Given the description of an element on the screen output the (x, y) to click on. 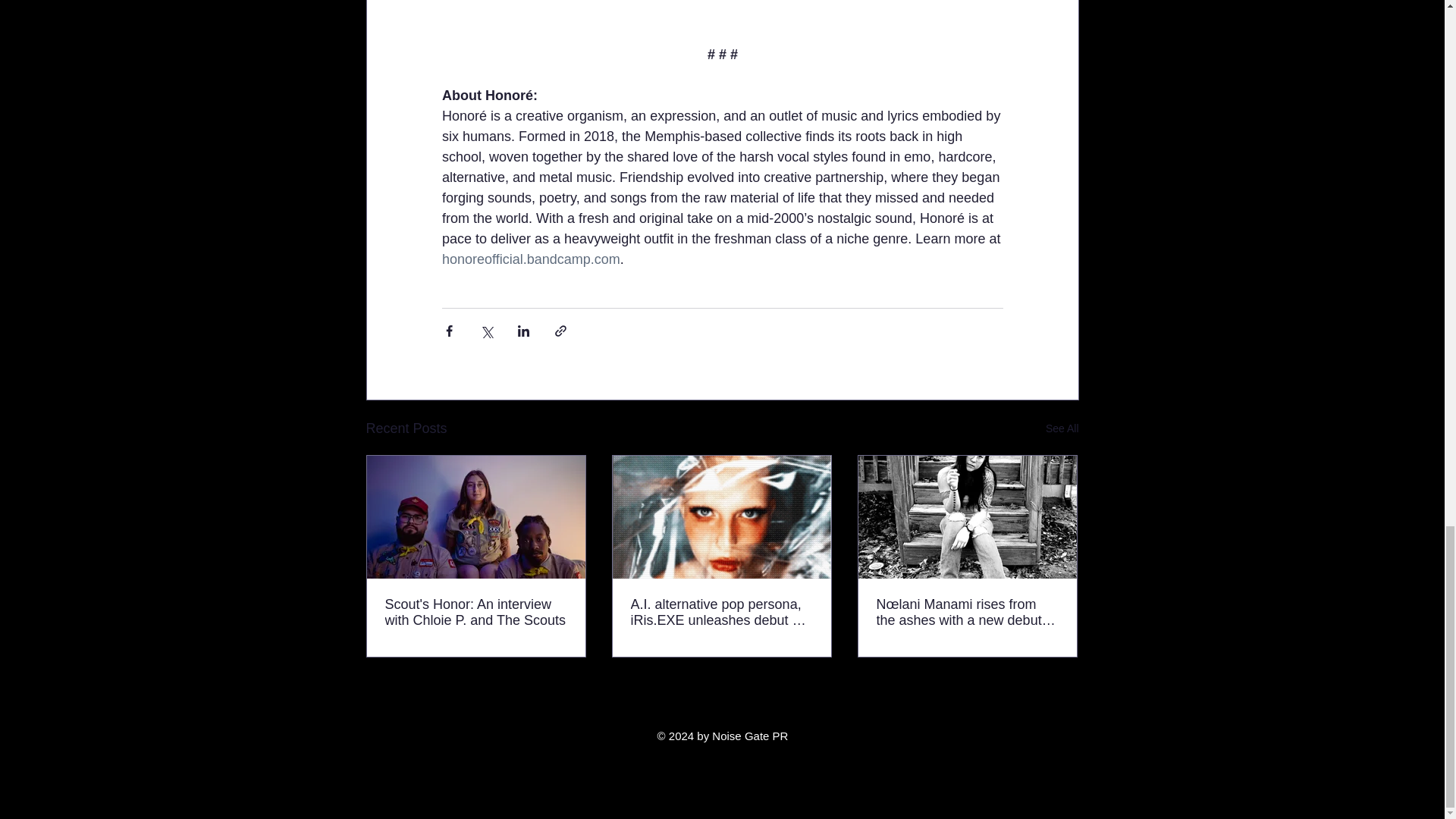
honoreofficial.bandcamp.com (530, 258)
See All (1061, 428)
Scout's Honor: An interview with Chloie P. and The Scouts (476, 612)
